Given the description of an element on the screen output the (x, y) to click on. 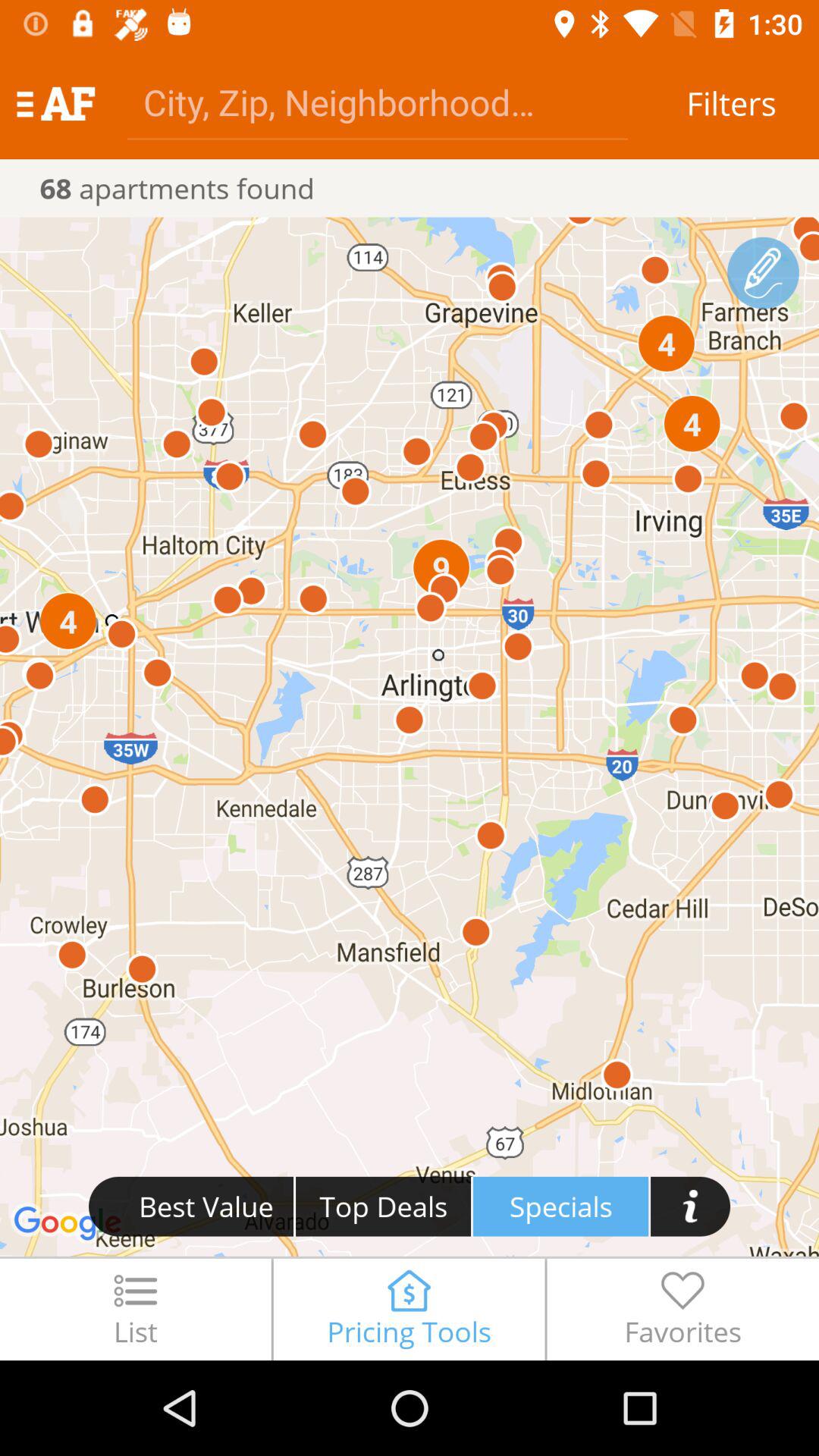
select the icon next to the pricing tools item (683, 1309)
